Given the description of an element on the screen output the (x, y) to click on. 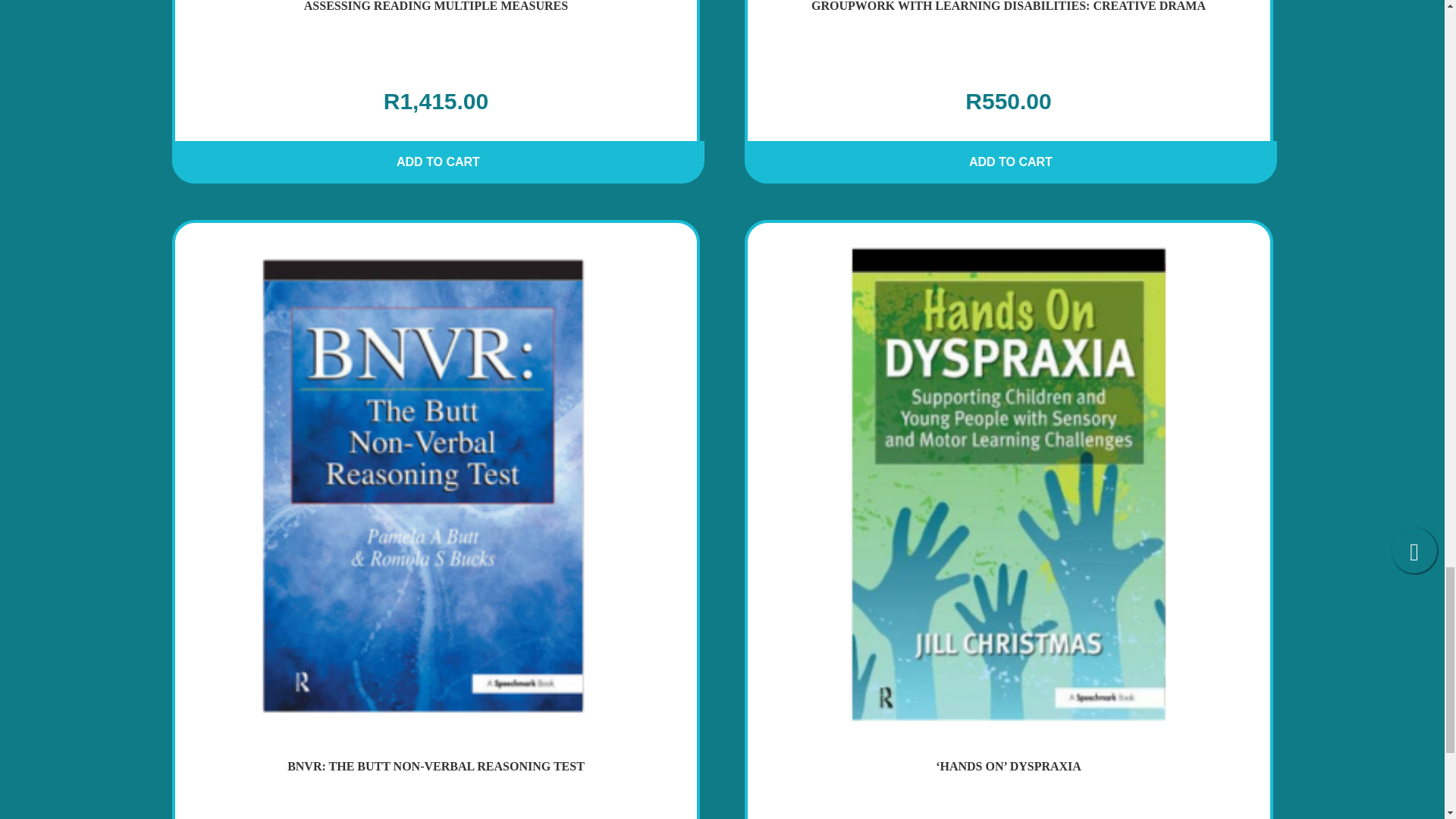
ADD TO CART (435, 82)
ADD TO CART (1011, 169)
